Given the description of an element on the screen output the (x, y) to click on. 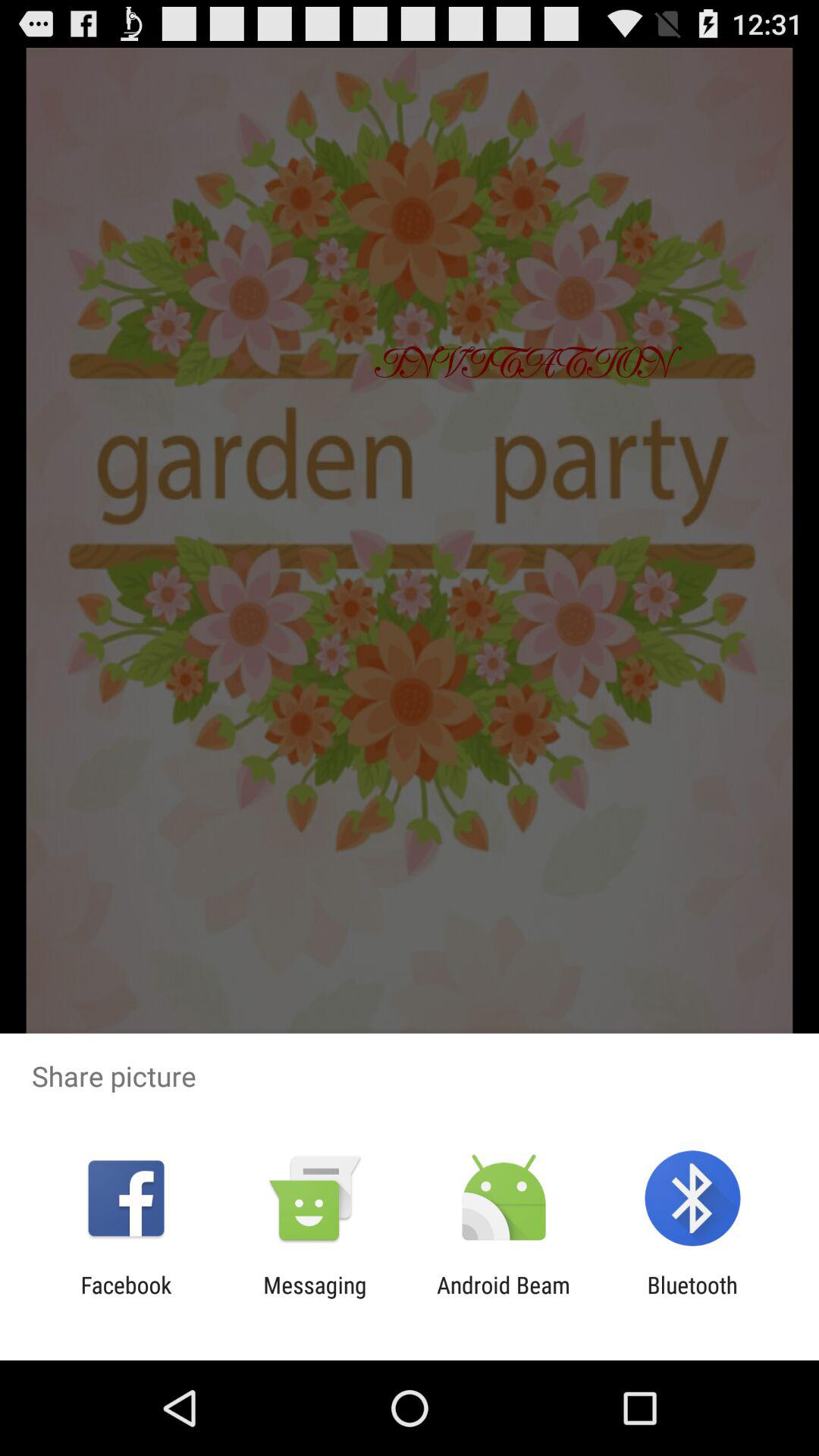
turn off the icon next to the messaging app (503, 1298)
